Given the description of an element on the screen output the (x, y) to click on. 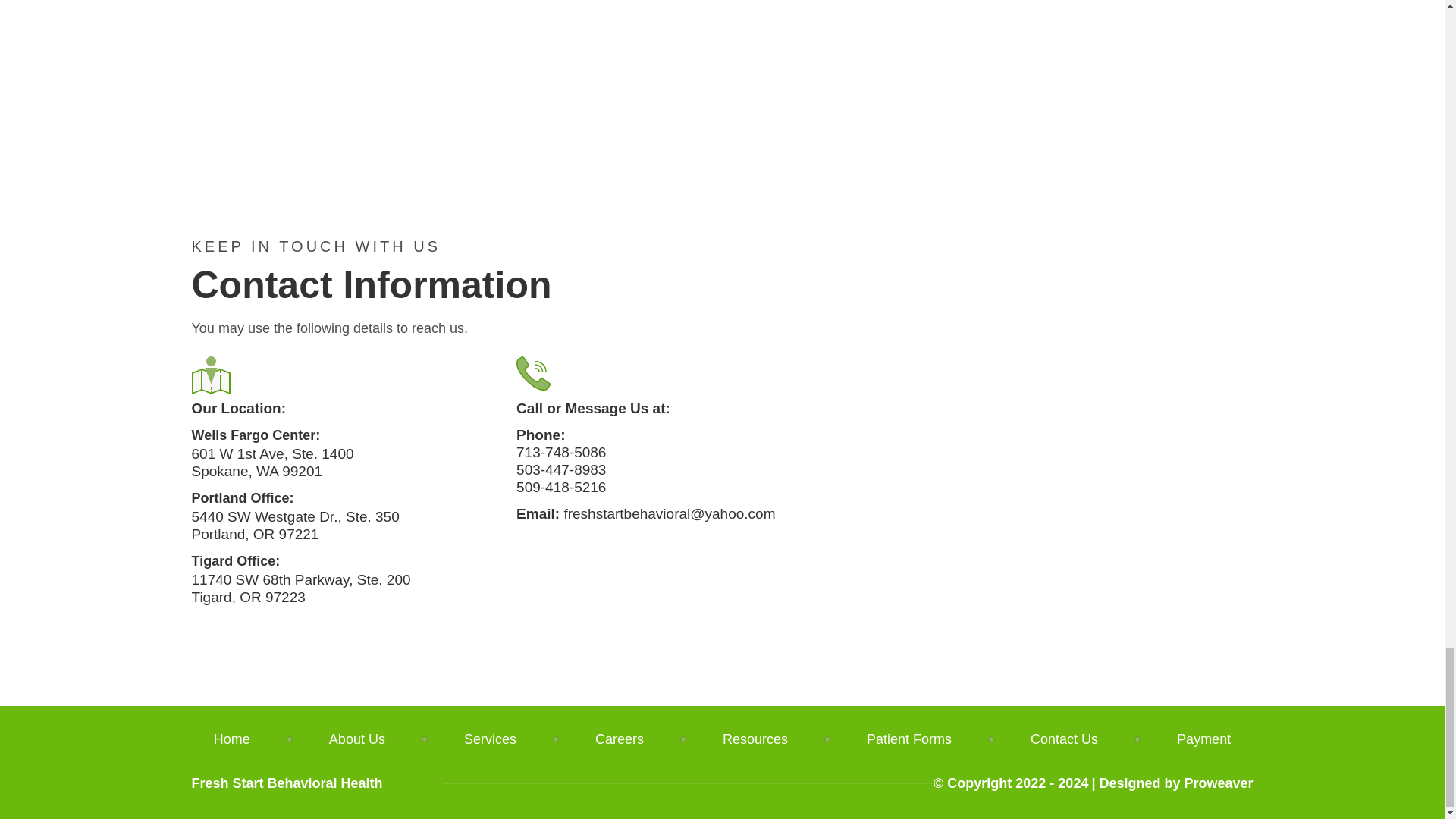
About Us (357, 739)
Contact Us (1064, 739)
Proweaver (1217, 783)
Patient Forms (909, 739)
Home (251, 739)
Services (490, 739)
Careers (619, 739)
Payment (1183, 739)
Resources (754, 739)
